Given the description of an element on the screen output the (x, y) to click on. 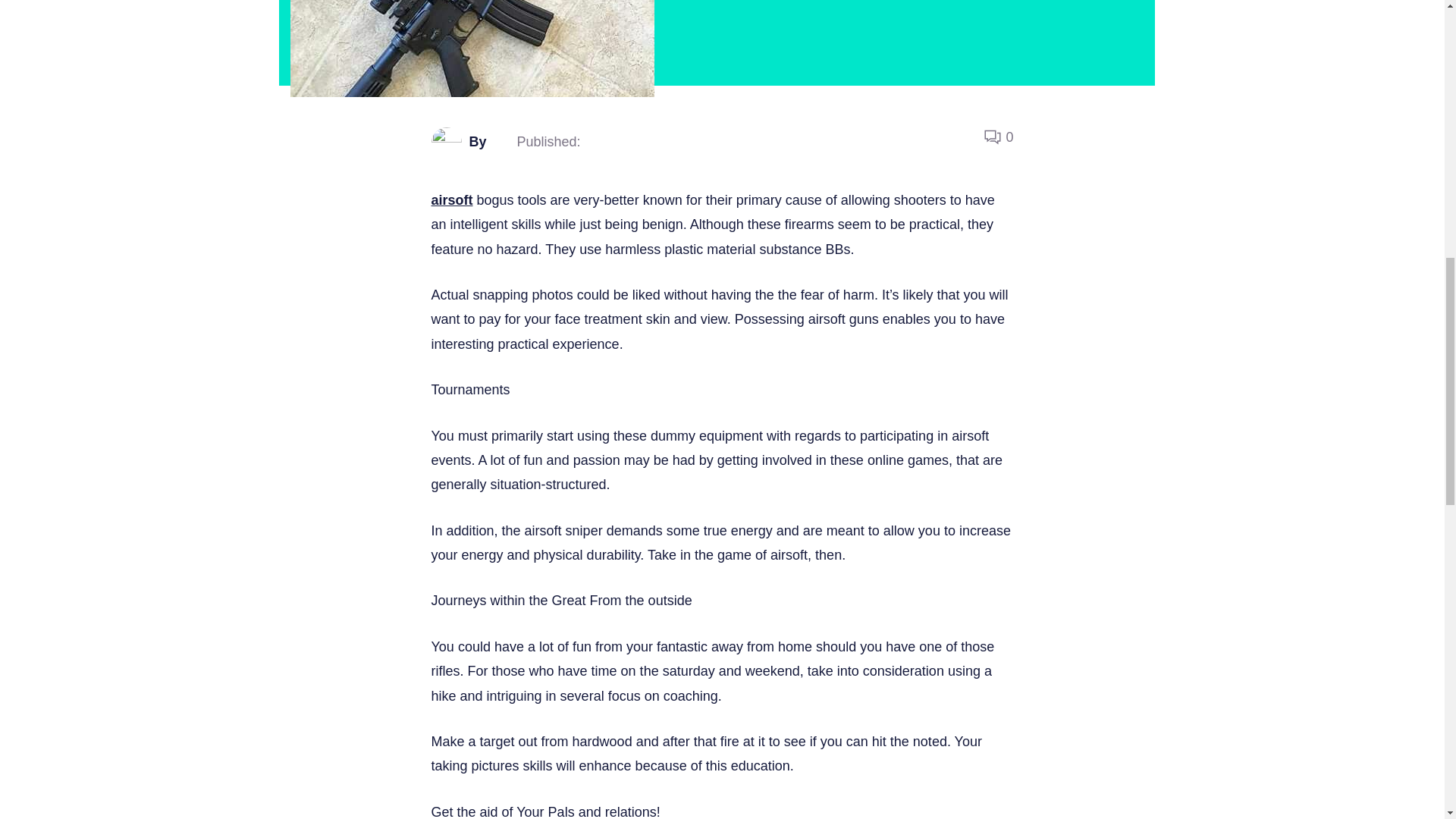
airsoft (450, 200)
